Given the description of an element on the screen output the (x, y) to click on. 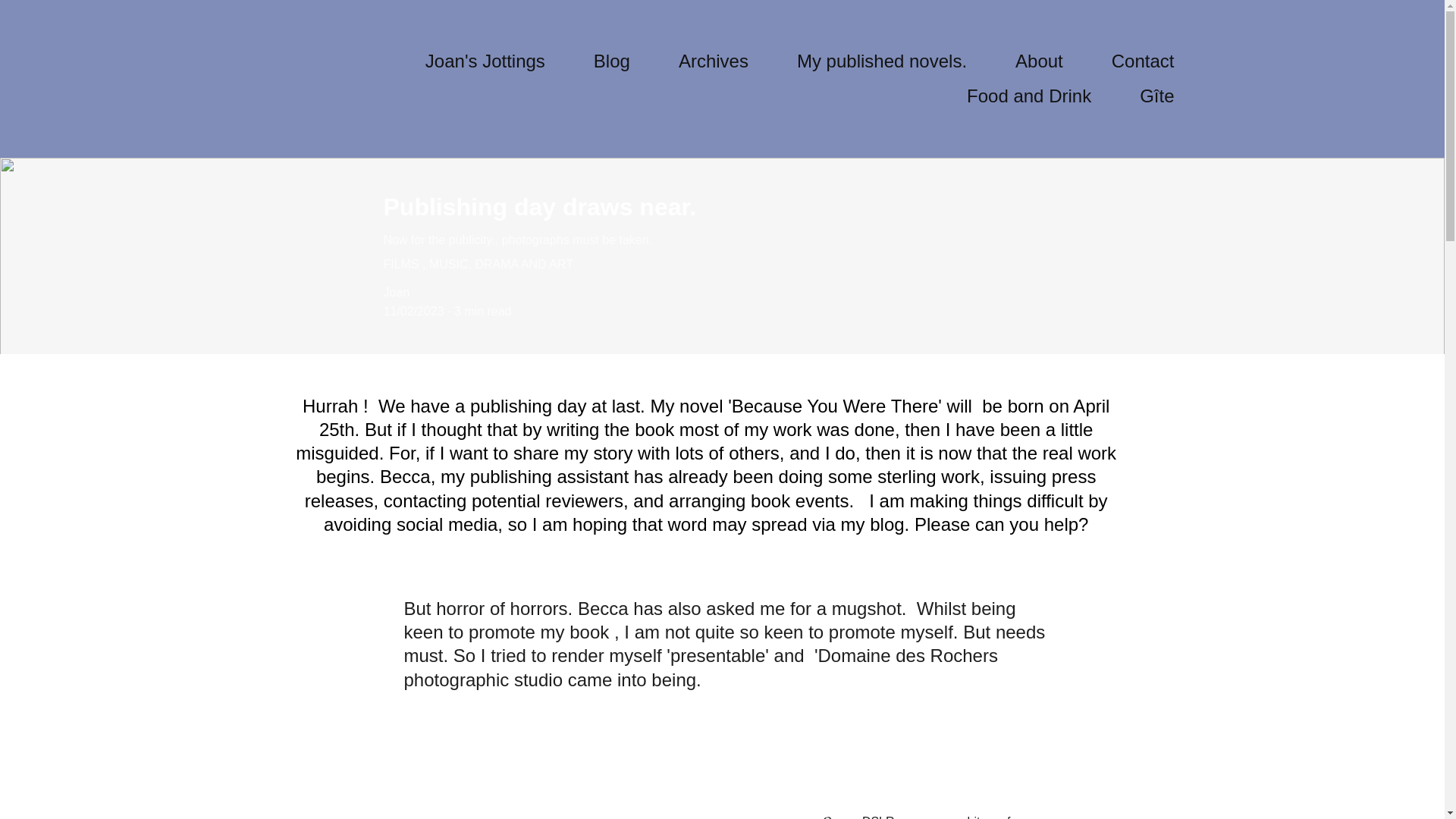
Blog (612, 60)
Contact (1143, 60)
Food and Drink (1028, 96)
Archives (713, 60)
About (1038, 60)
Joan's Jottings (484, 60)
My published novels. (881, 60)
